Given the description of an element on the screen output the (x, y) to click on. 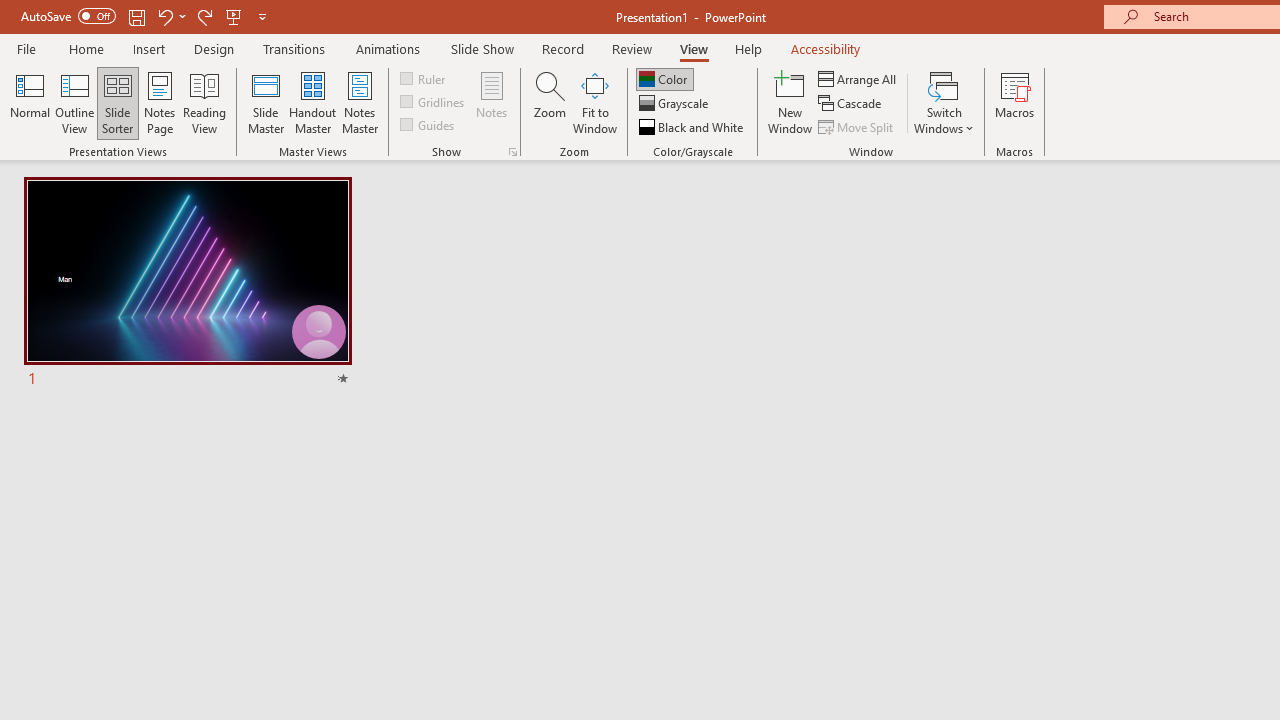
Zoom... (549, 102)
